Given the description of an element on the screen output the (x, y) to click on. 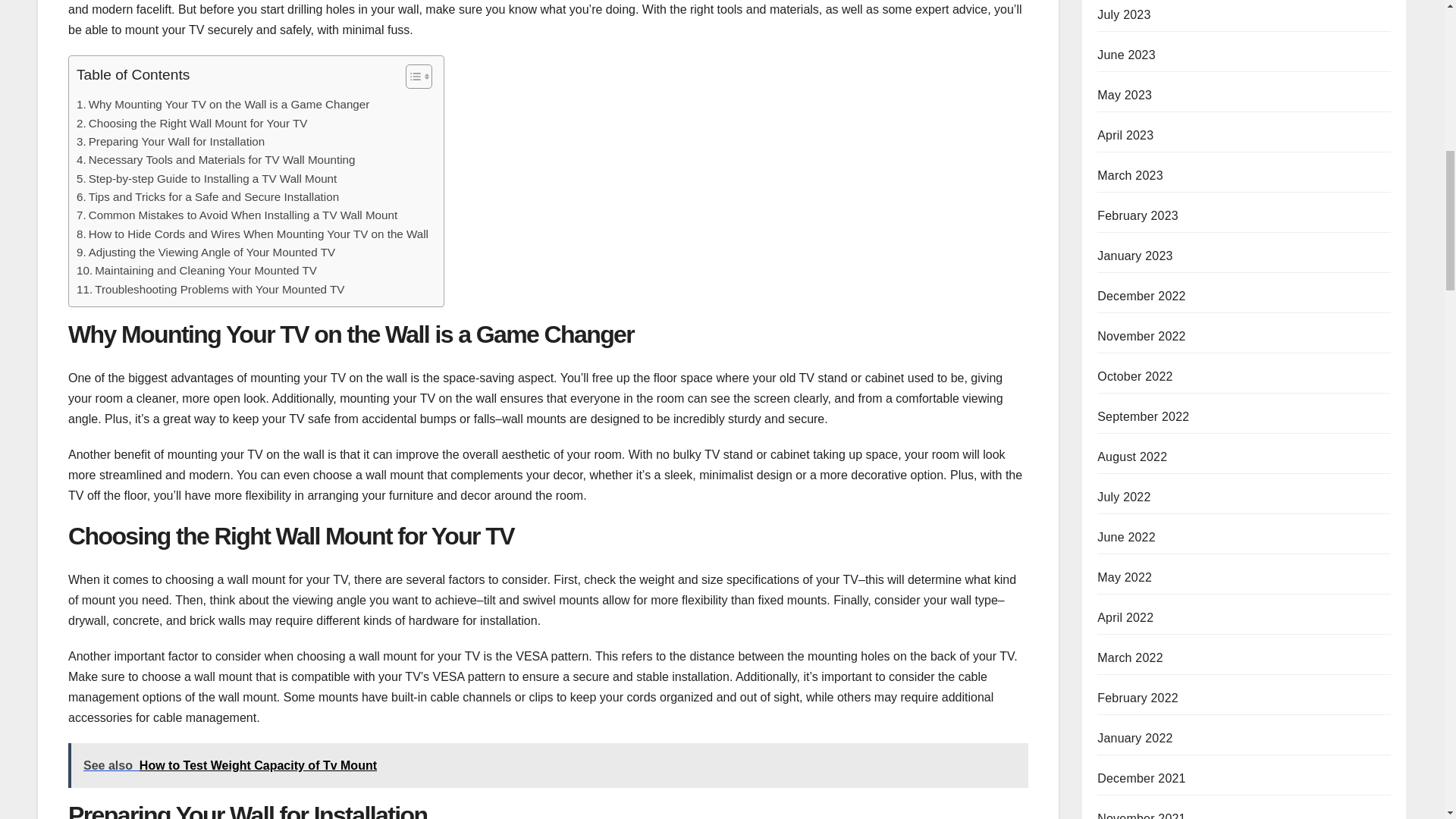
Necessary Tools and Materials for TV Wall Mounting (216, 159)
Preparing Your Wall for Installation (170, 141)
Common Mistakes to Avoid When Installing a TV Wall Mount (237, 215)
Choosing the Right Wall Mount for Your TV (192, 123)
Tips and Tricks for a Safe and Secure Installation (208, 197)
Adjusting the Viewing Angle of Your Mounted TV (205, 252)
Maintaining and Cleaning Your Mounted TV (197, 270)
Troubleshooting Problems with Your Mounted TV (210, 289)
Necessary Tools and Materials for TV Wall Mounting (216, 159)
Step-by-step Guide to Installing a TV Wall Mount (206, 178)
Why Mounting Your TV on the Wall is a Game Changer (223, 104)
See also  How to Test Weight Capacity of Tv Mount (547, 764)
Maintaining and Cleaning Your Mounted TV (197, 270)
Step-by-step Guide to Installing a TV Wall Mount (206, 178)
Choosing the Right Wall Mount for Your TV (192, 123)
